Given the description of an element on the screen output the (x, y) to click on. 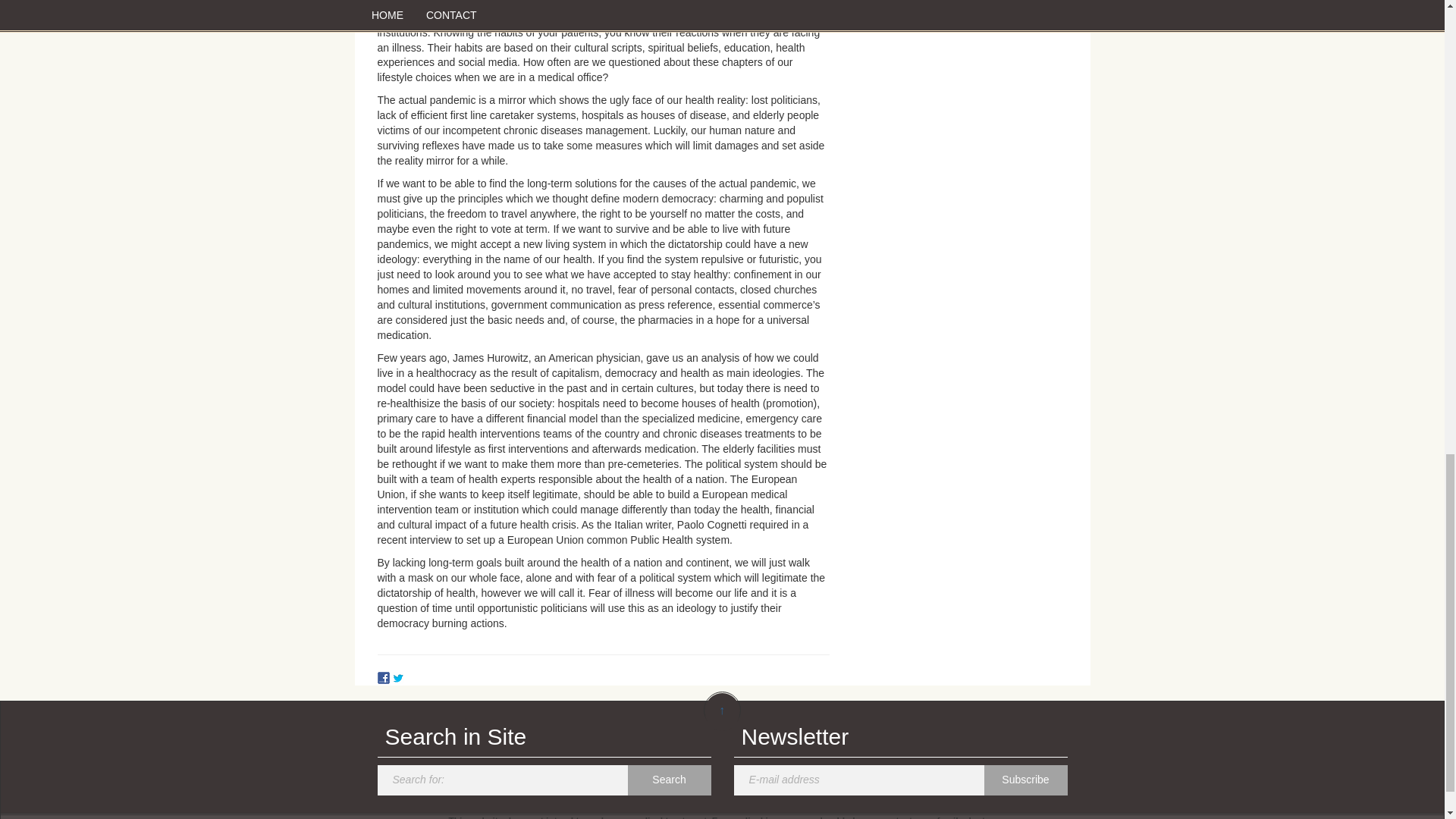
Subscribe (1025, 779)
Search (669, 779)
Search (669, 779)
Subscribe (1025, 779)
